Given the description of an element on the screen output the (x, y) to click on. 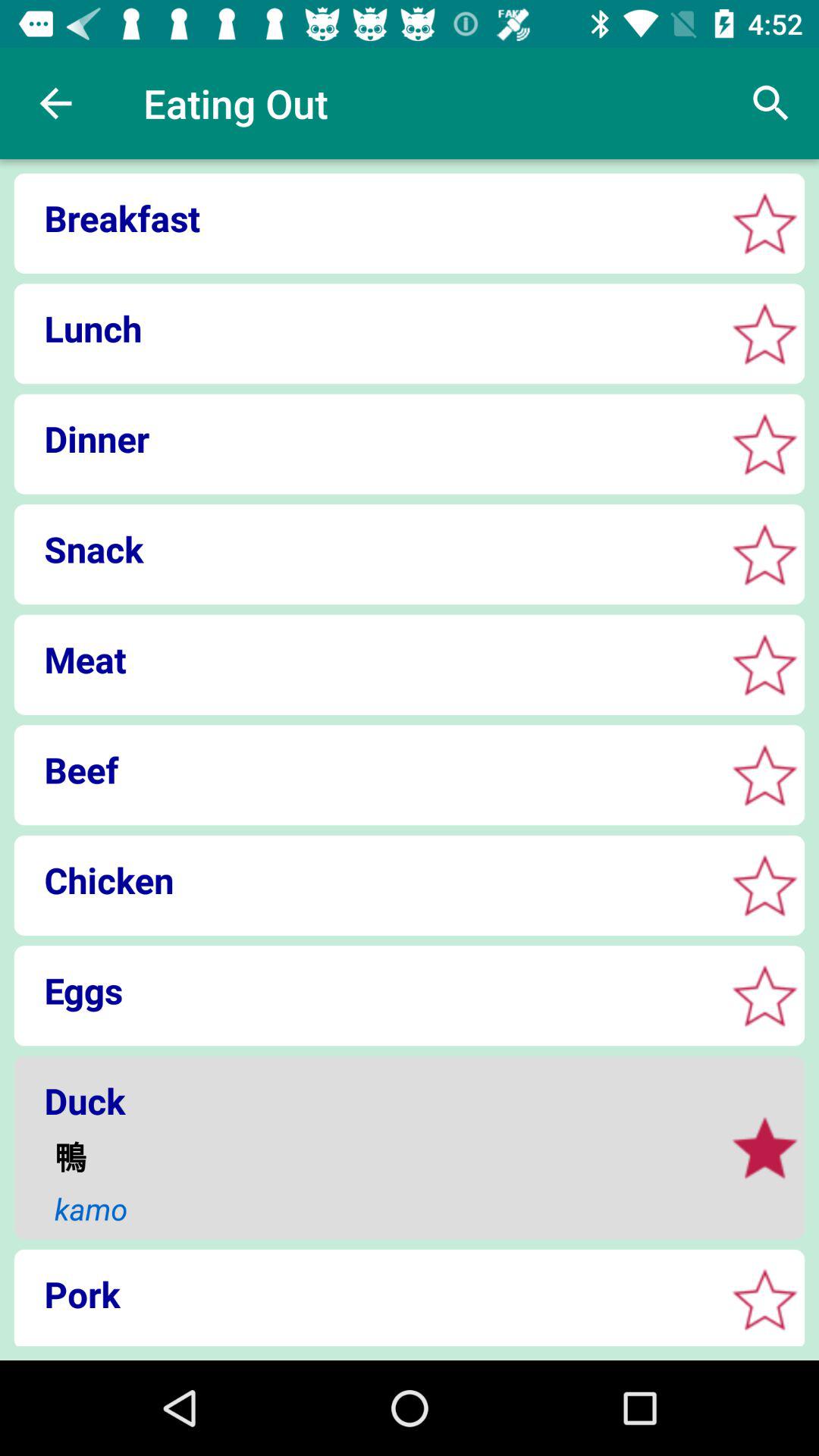
mark selection (764, 554)
